Given the description of an element on the screen output the (x, y) to click on. 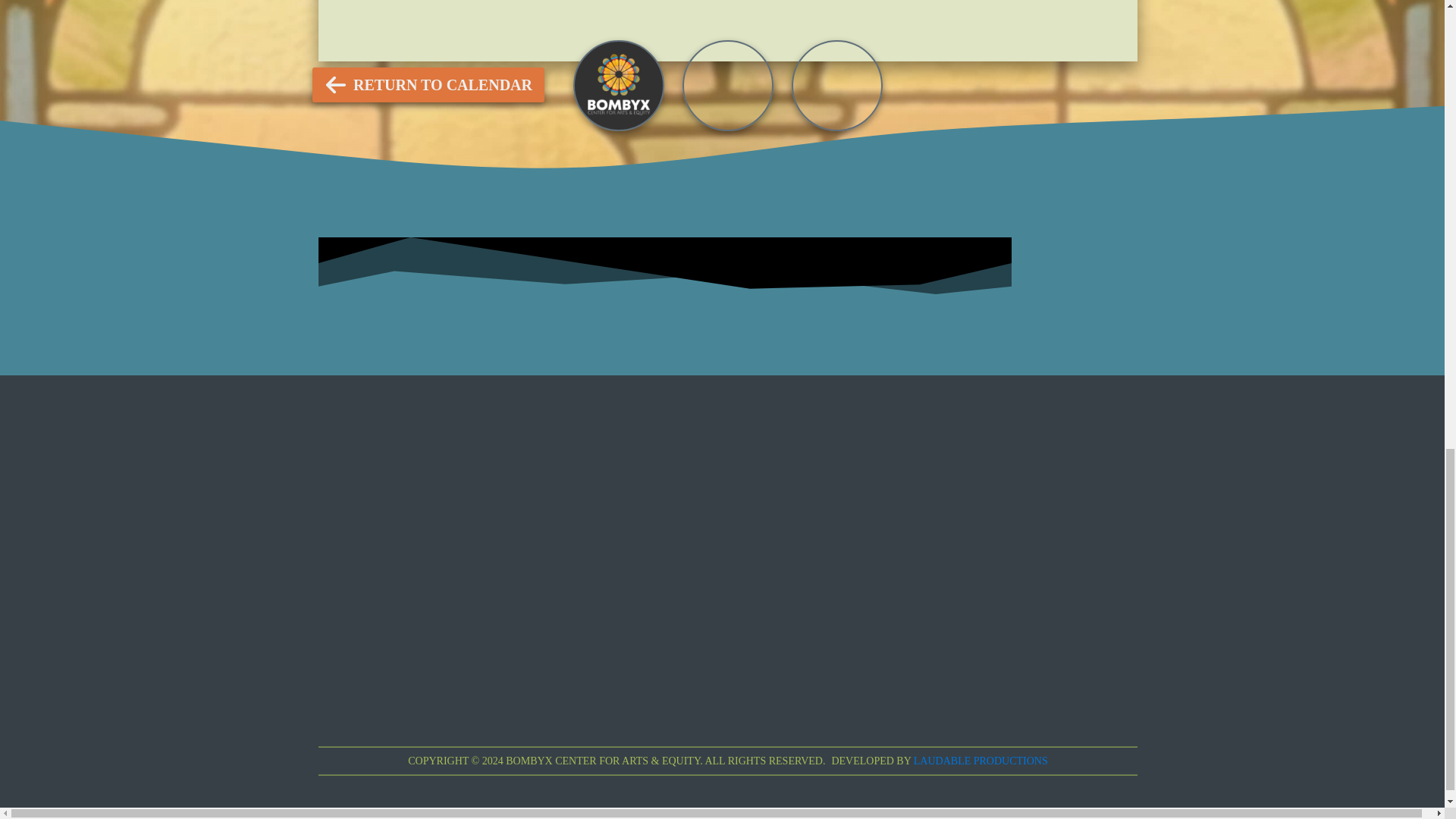
RETURN TO CALENDAR (428, 84)
EVENTS (628, 27)
ARTISTS (735, 27)
HOME (834, 27)
